Given the description of an element on the screen output the (x, y) to click on. 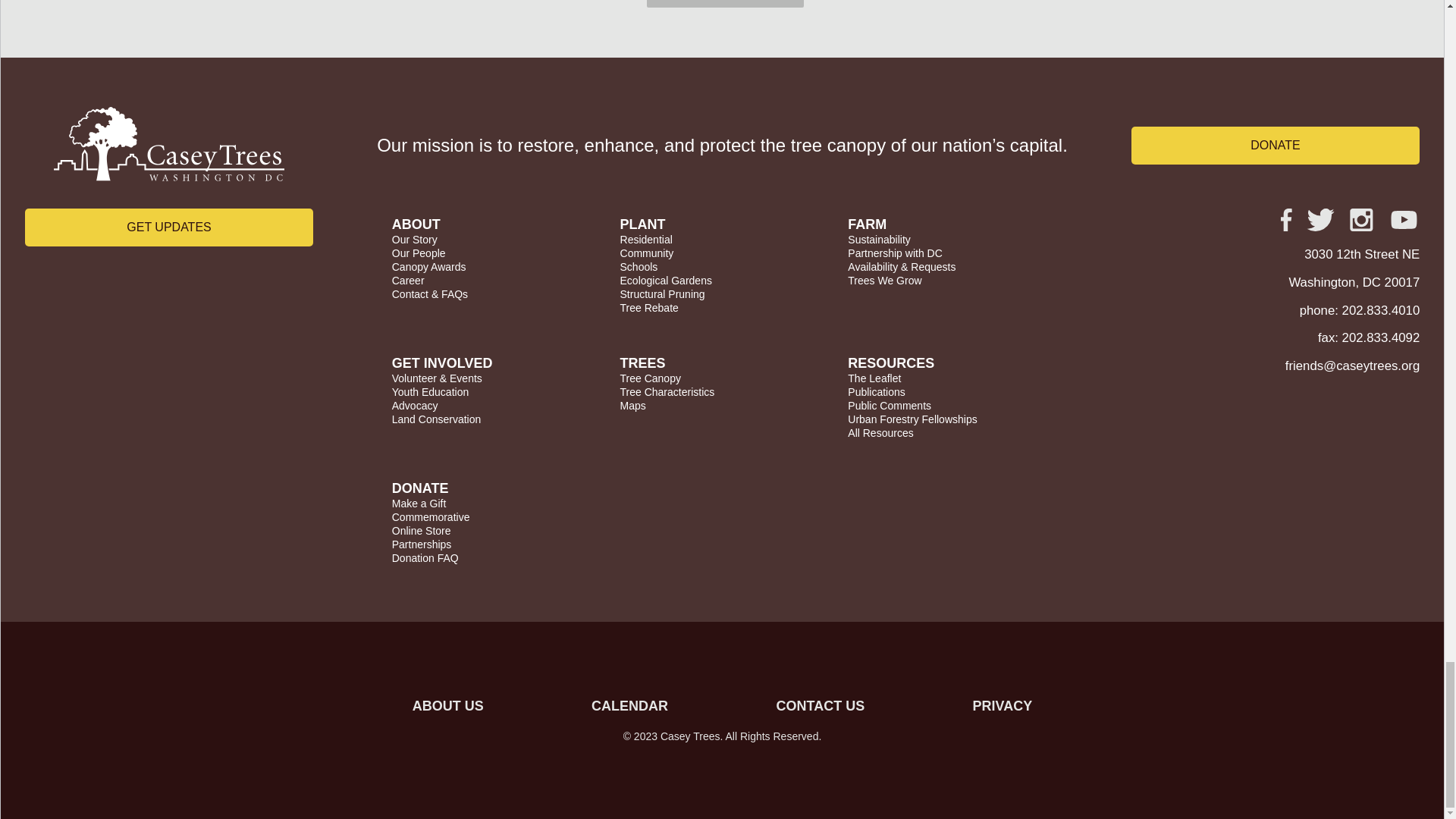
Submit (725, 3)
